Given the description of an element on the screen output the (x, y) to click on. 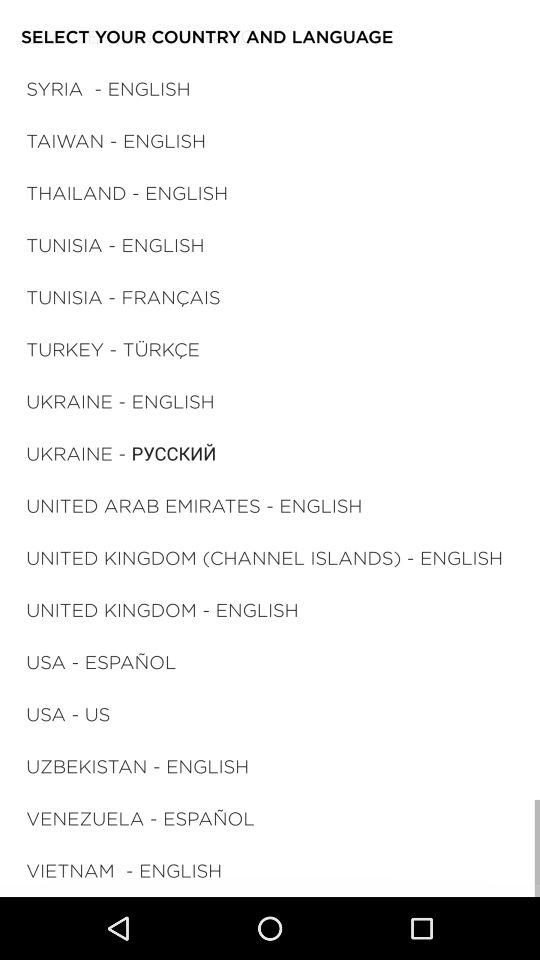
swipe until united arab emirates icon (194, 505)
